Given the description of an element on the screen output the (x, y) to click on. 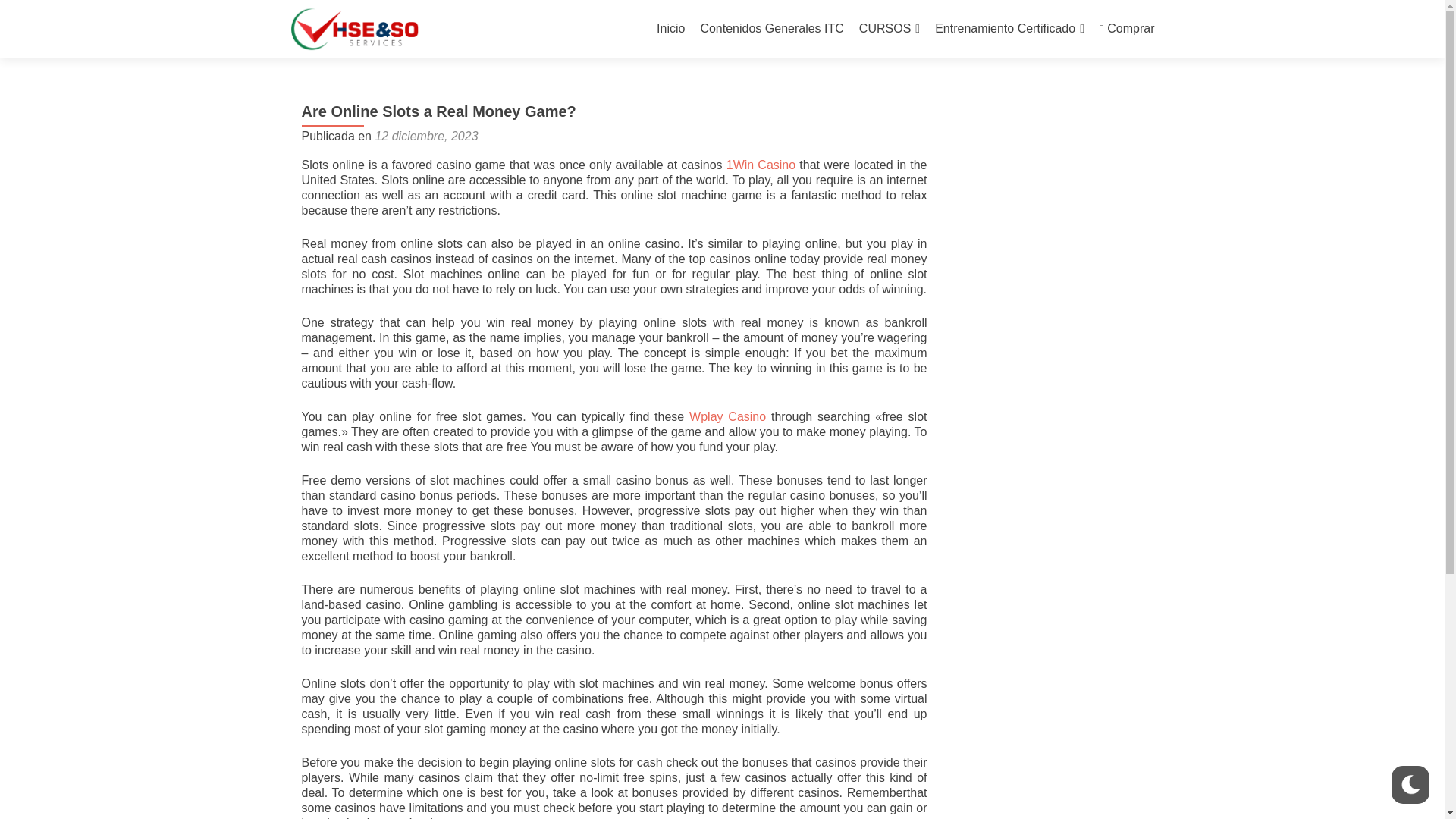
Entrenamiento Certificado (1009, 28)
1Win Casino (760, 164)
12 diciembre, 2023 (425, 135)
Contenidos Generales ITC (771, 28)
CURSOS (889, 28)
Wplay Casino (726, 416)
Comprar (1126, 28)
Inicio (670, 28)
